Given the description of an element on the screen output the (x, y) to click on. 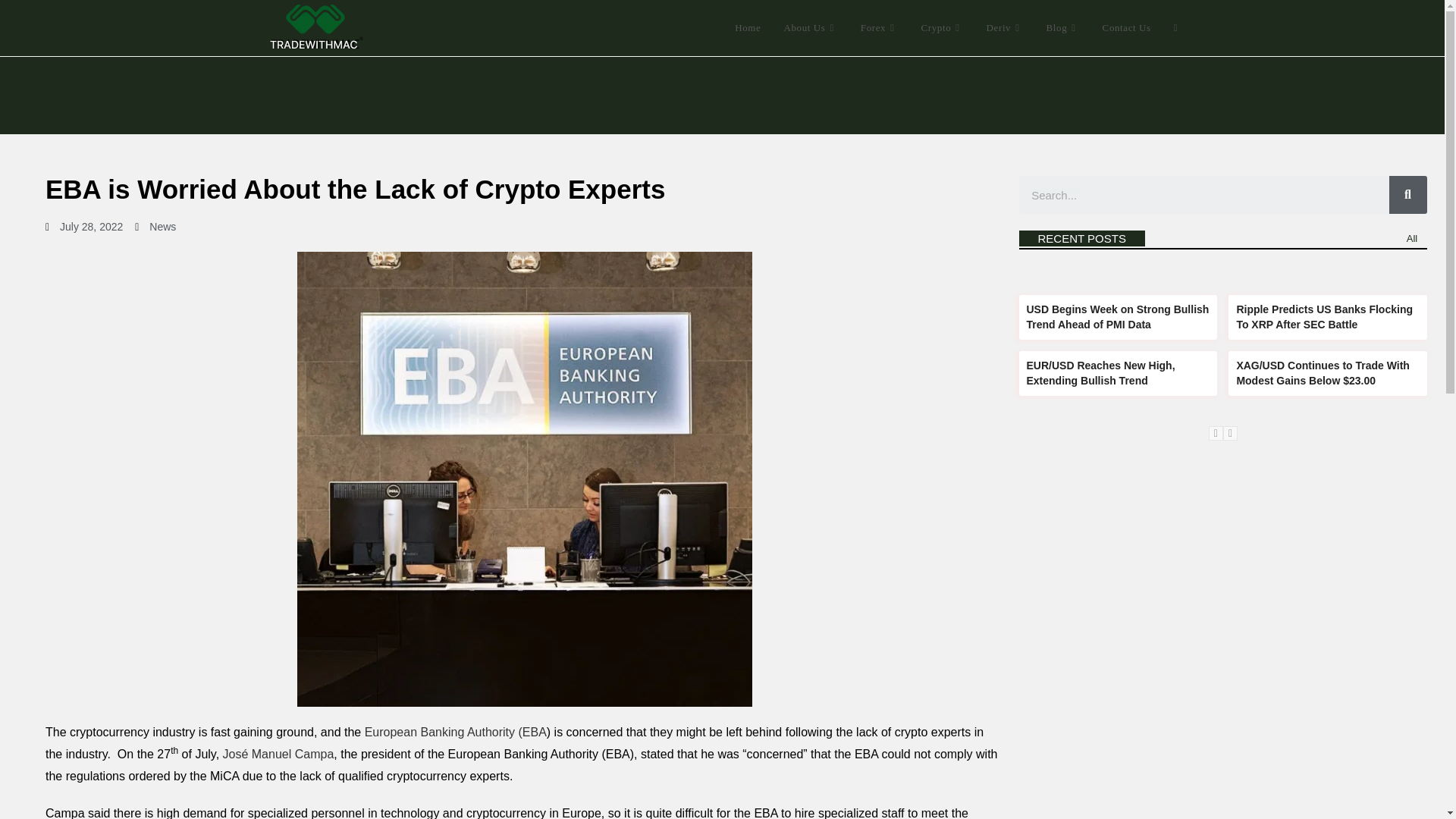
Crypto (942, 28)
Search (1204, 194)
Forex (879, 28)
Search (1407, 194)
About Us (809, 28)
Deriv (1005, 28)
Contact Us (1125, 28)
Blog (1062, 28)
